Given the description of an element on the screen output the (x, y) to click on. 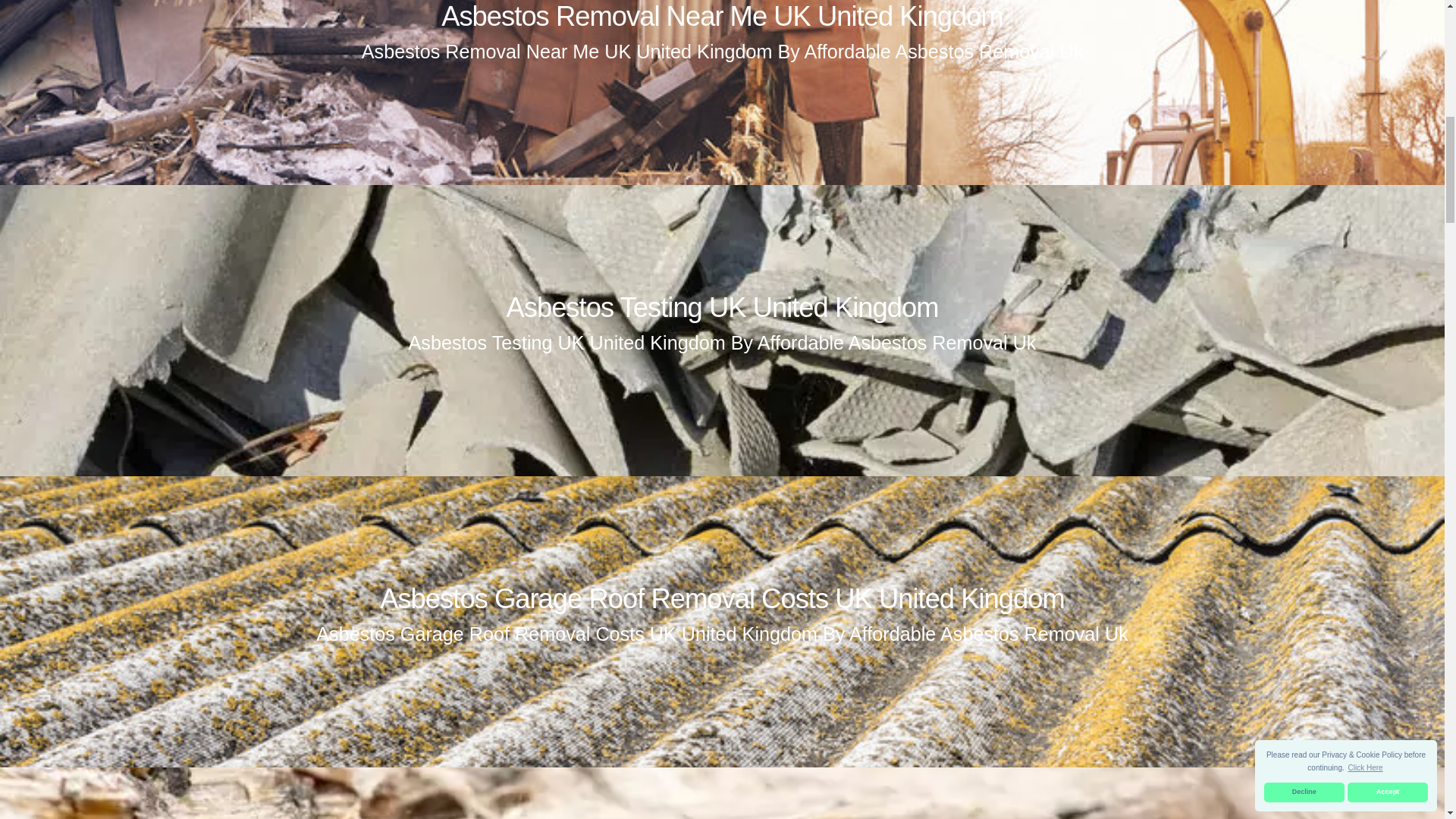
Asbestos Garage Roof Removal Costs UK United Kingdom (722, 598)
Asbestos Testing UK United Kingdom (721, 306)
Asbestos Removal Near Me UK United Kingdom (722, 15)
